Given the description of an element on the screen output the (x, y) to click on. 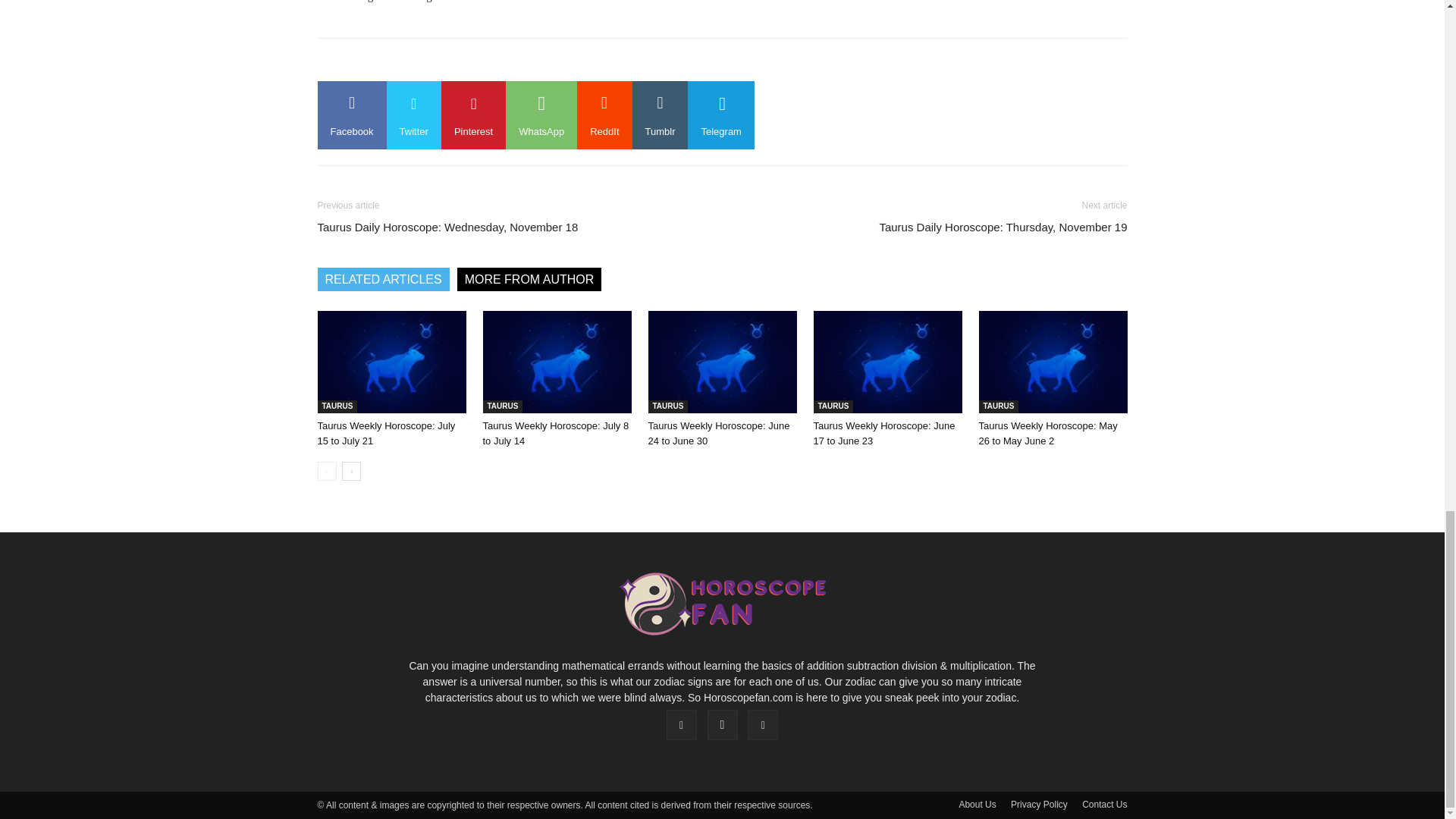
Facebook (351, 115)
WhatsApp (540, 115)
Pinterest (473, 115)
bottomFacebookLike (430, 62)
